Given the description of an element on the screen output the (x, y) to click on. 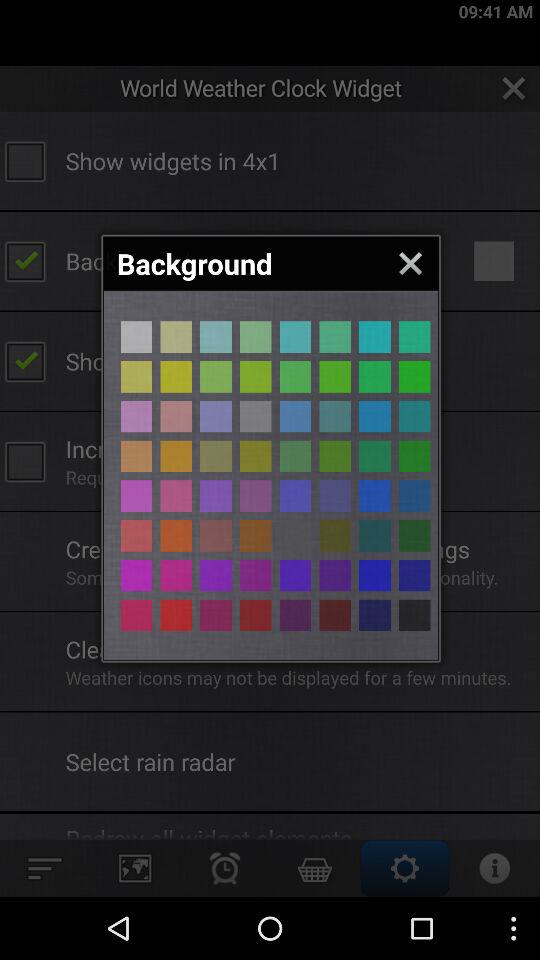
different colour page (136, 336)
